Given the description of an element on the screen output the (x, y) to click on. 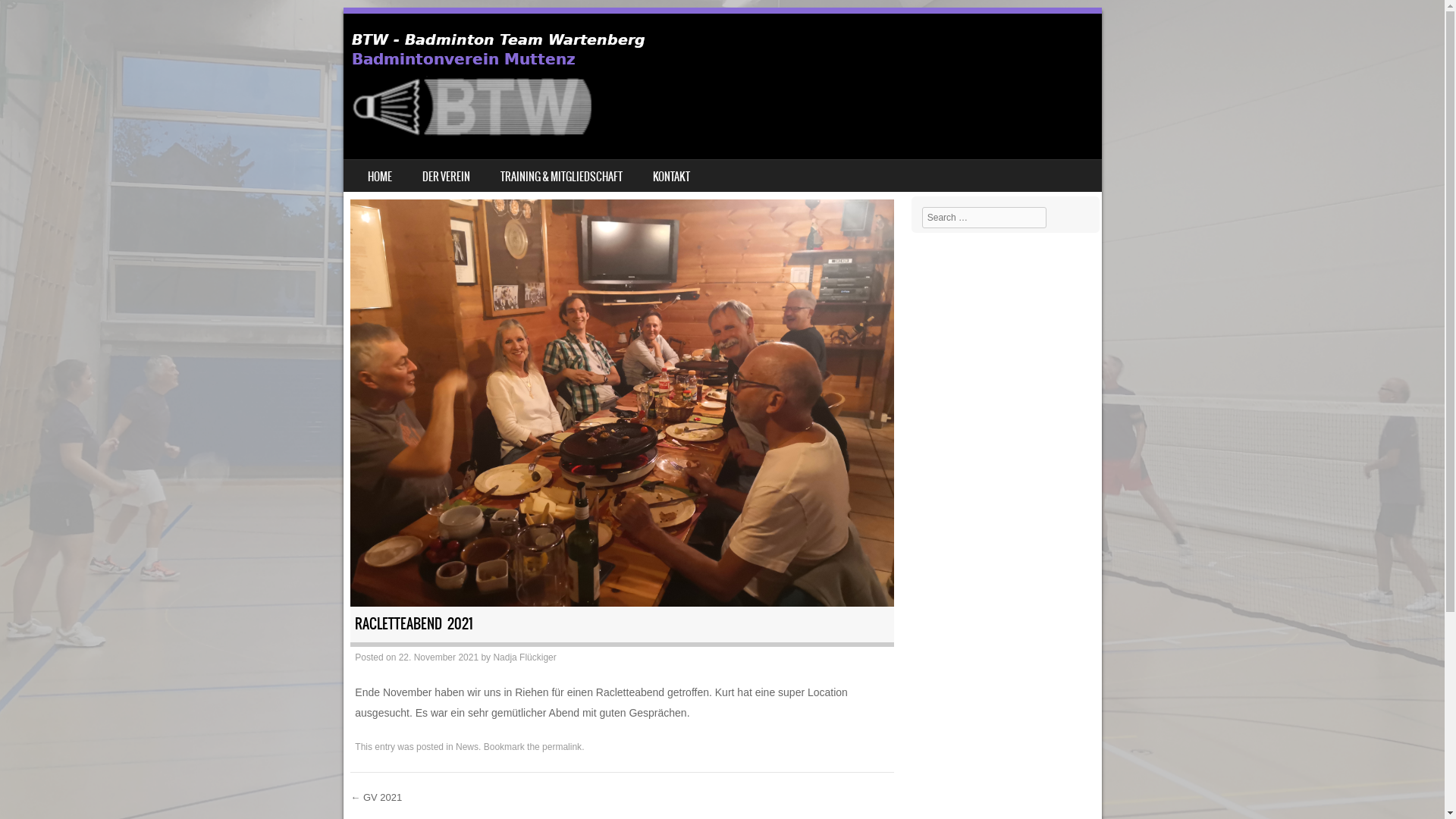
SKIP TO CONTENT Element type: text (378, 169)
News Element type: text (466, 746)
DER VEREIN Element type: text (445, 175)
TRAINING & MITGLIEDSCHAFT Element type: text (561, 175)
22. November 2021 Element type: text (438, 657)
permalink Element type: text (561, 746)
Search Element type: text (33, 17)
HOME Element type: text (378, 175)
KONTAKT Element type: text (670, 175)
